Given the description of an element on the screen output the (x, y) to click on. 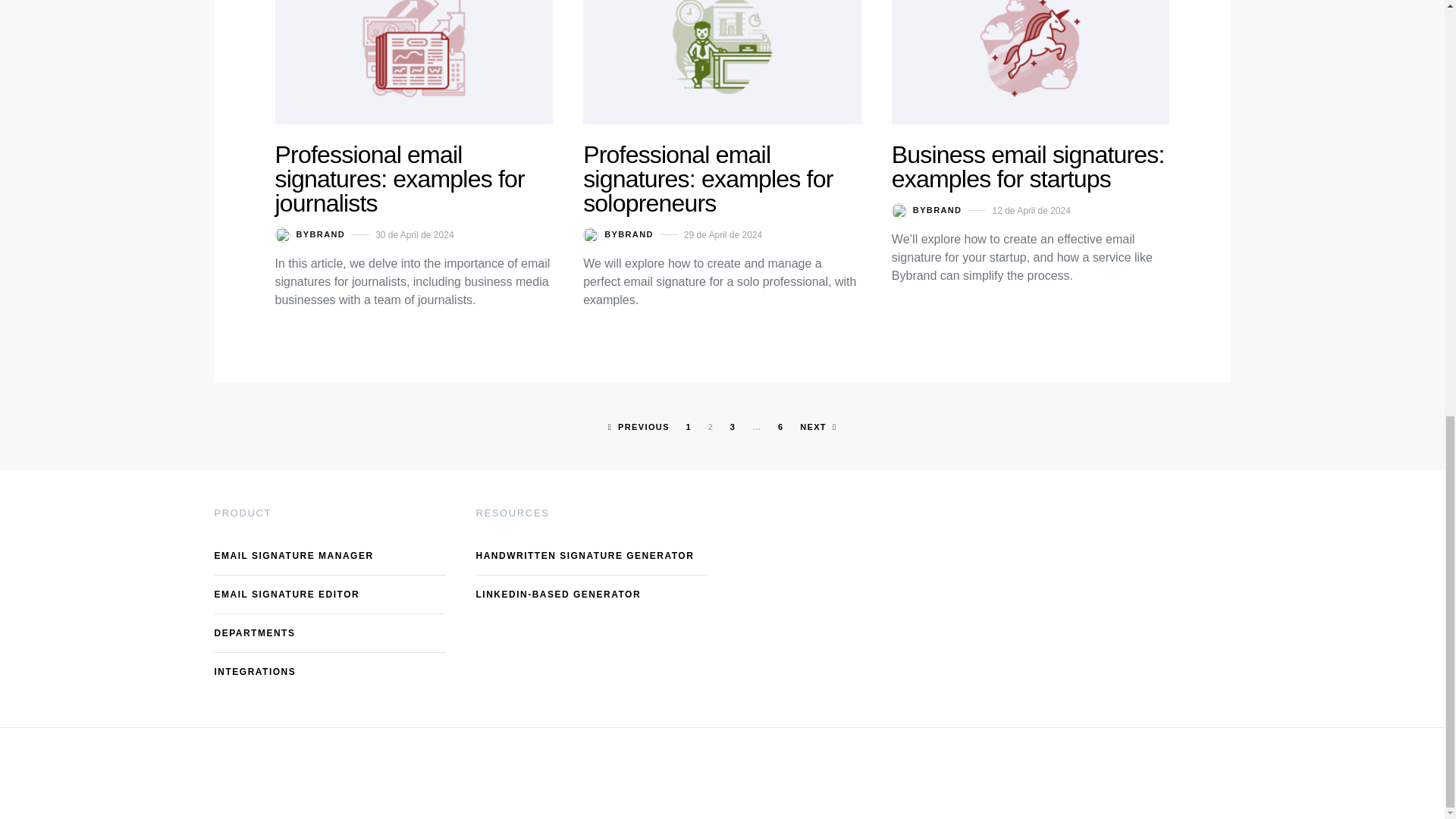
BYBRAND (618, 234)
View all posts by Bybrand (926, 210)
BYBRAND (310, 234)
View all posts by Bybrand (310, 234)
View all posts by Bybrand (618, 234)
Professional email signatures: examples for solopreneurs (707, 178)
Professional email signatures: examples for journalists (399, 178)
